Given the description of an element on the screen output the (x, y) to click on. 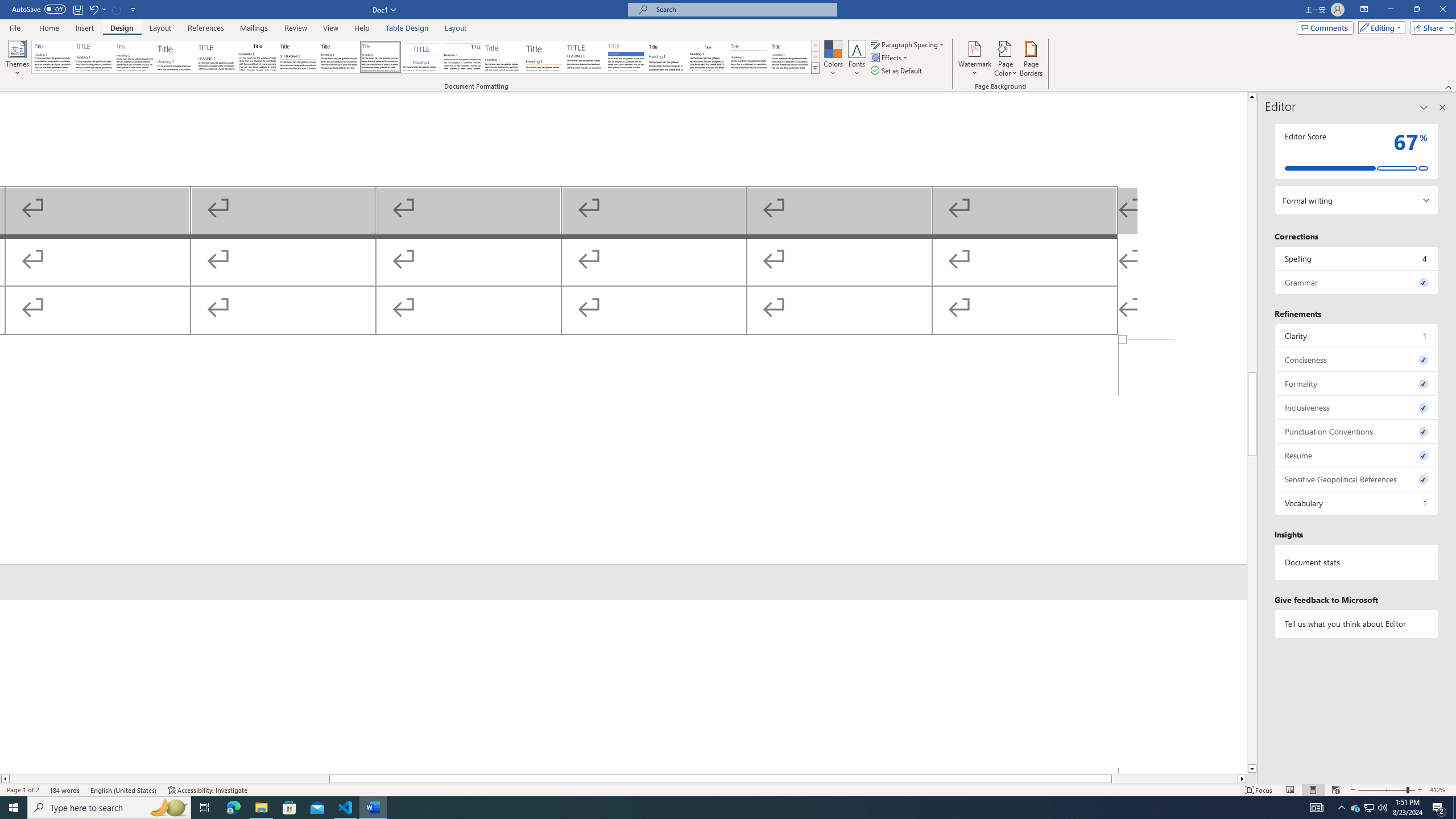
Grammar, 0 issues. Press space or enter to review items. (1356, 282)
Word (666, 56)
Spelling, 4 issues. Press space or enter to review items. (1356, 258)
Clarity, 1 issue. Press space or enter to review items. (1356, 335)
Page right (1174, 778)
Resume, 0 issues. Press space or enter to review items. (1356, 454)
Basic (Simple) (135, 56)
